Given the description of an element on the screen output the (x, y) to click on. 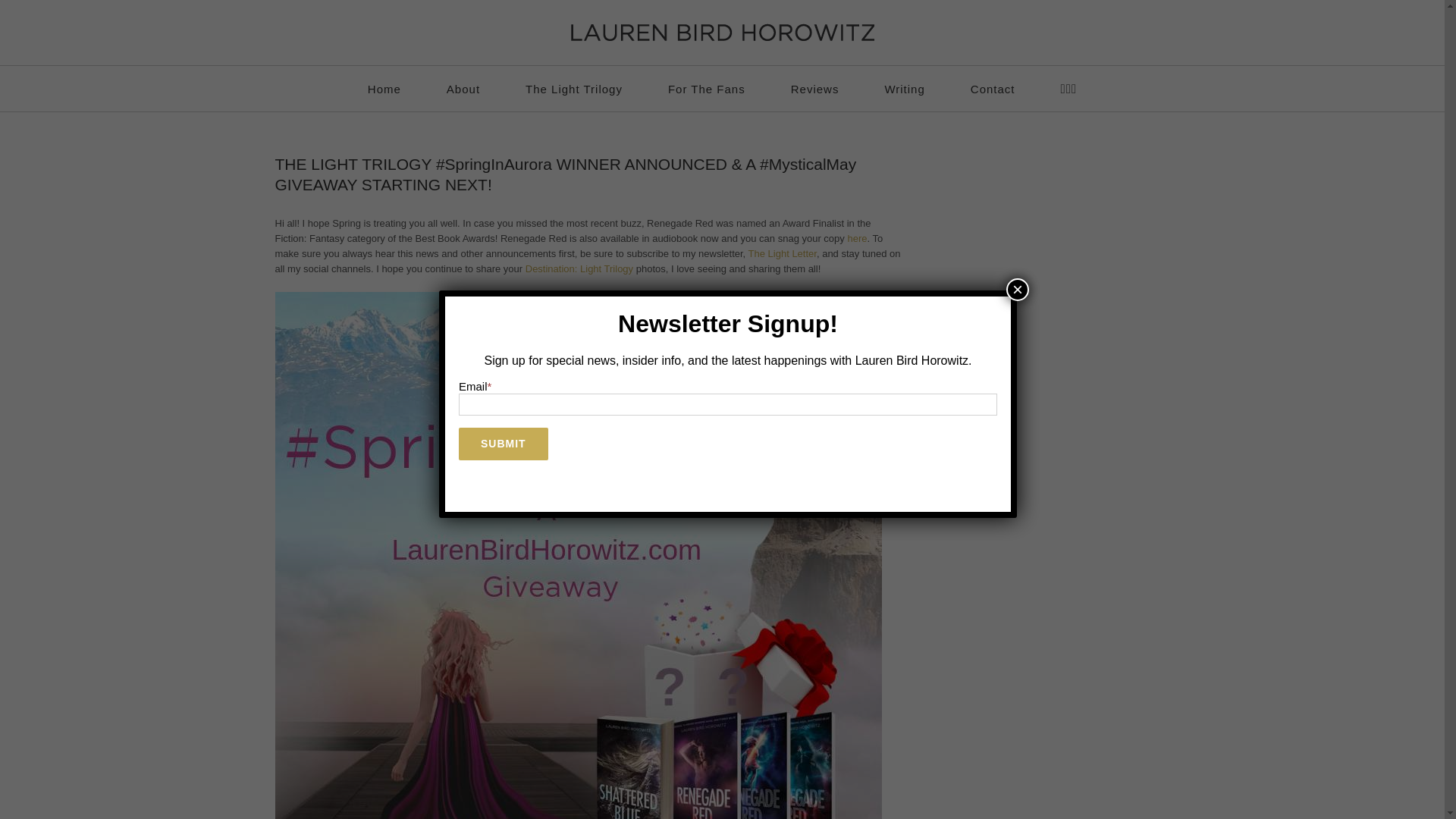
The Light Trilogy (574, 88)
Submit (503, 443)
